Given the description of an element on the screen output the (x, y) to click on. 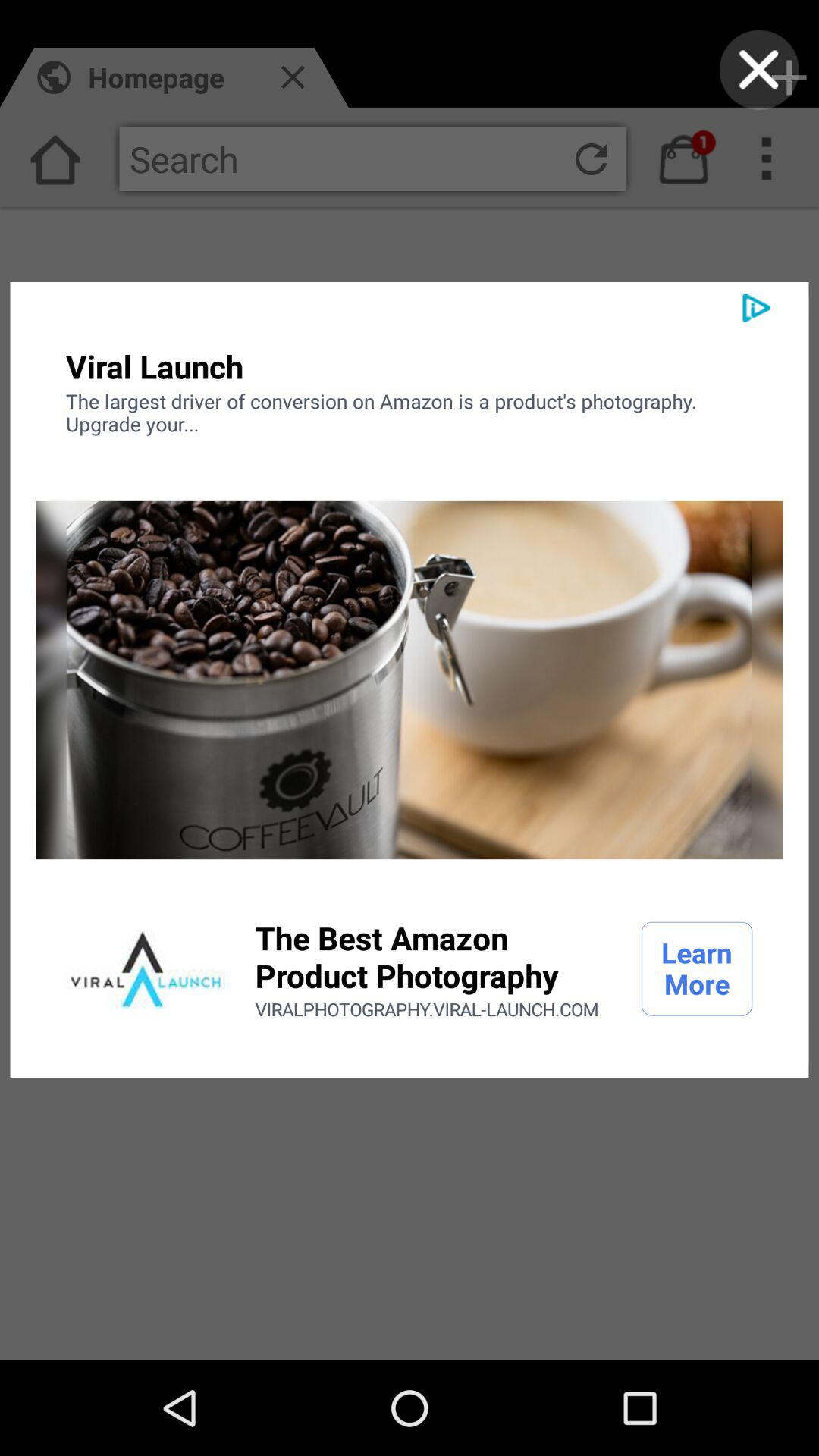
exit out of (759, 69)
